Given the description of an element on the screen output the (x, y) to click on. 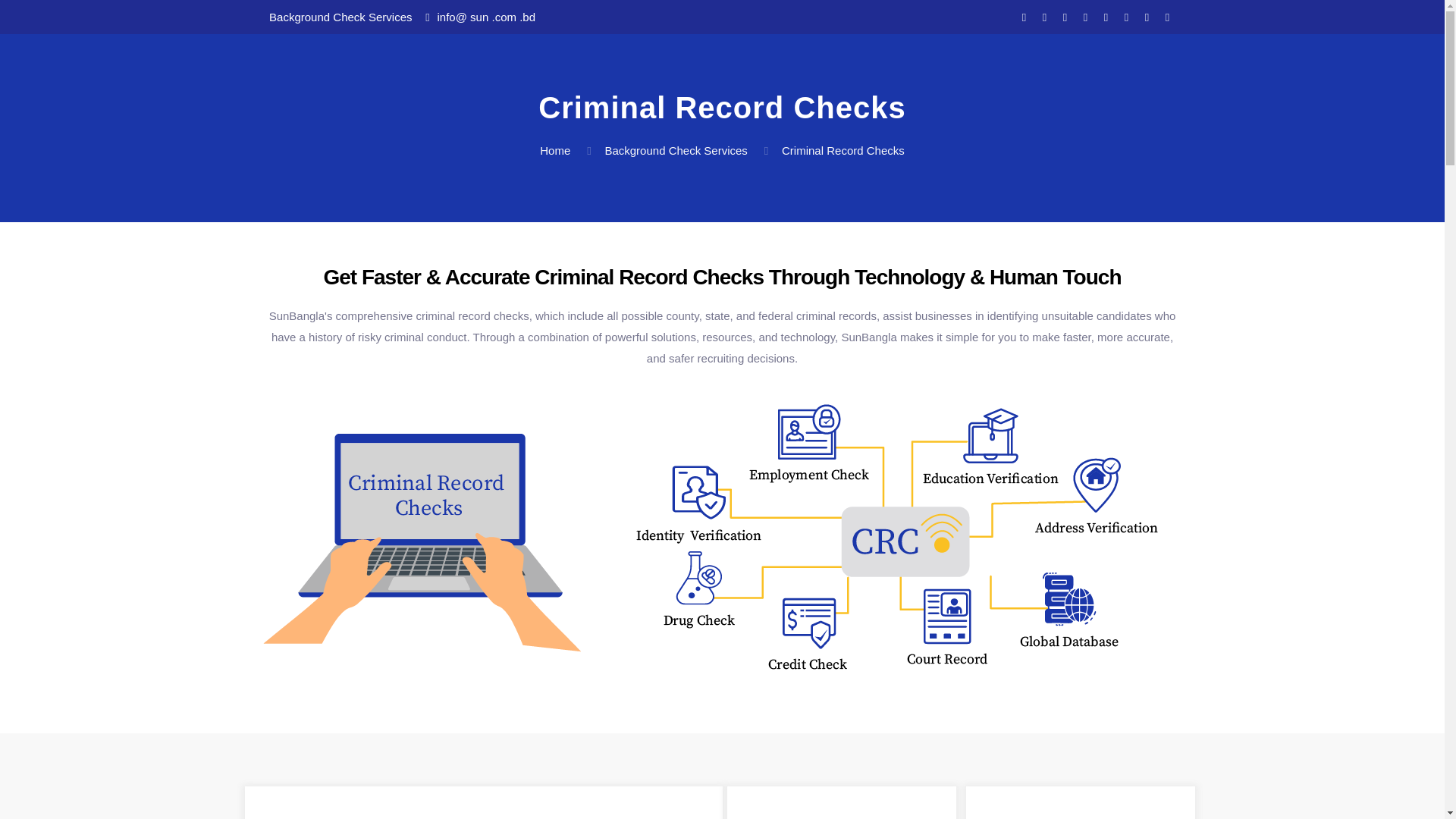
Background Check Services Element type: text (675, 150)
Pinterest Element type: hover (1105, 16)
LinkedIn Element type: hover (1085, 16)
Instagram Element type: hover (1126, 16)
Home Element type: text (554, 150)
YouTube Element type: hover (1065, 16)
Twitter Element type: hover (1044, 16)
Facebook Element type: hover (1024, 16)
Tumblr Element type: hover (1146, 16)
info@ sun .com .bd Element type: text (486, 16)
Criminal Record Checks Element type: text (842, 150)
VKontakte Element type: hover (1167, 16)
